Given the description of an element on the screen output the (x, y) to click on. 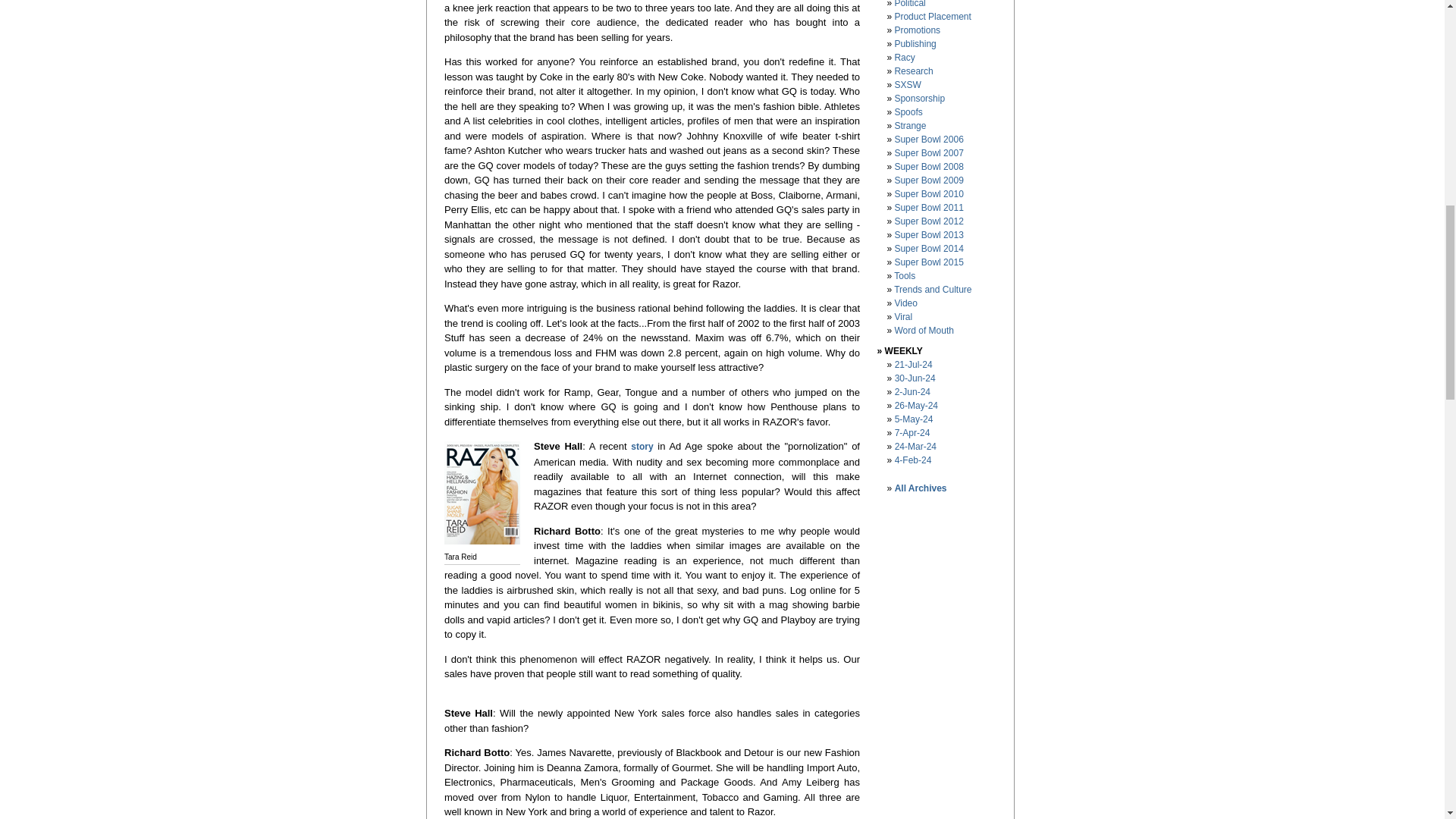
story (641, 446)
